Given the description of an element on the screen output the (x, y) to click on. 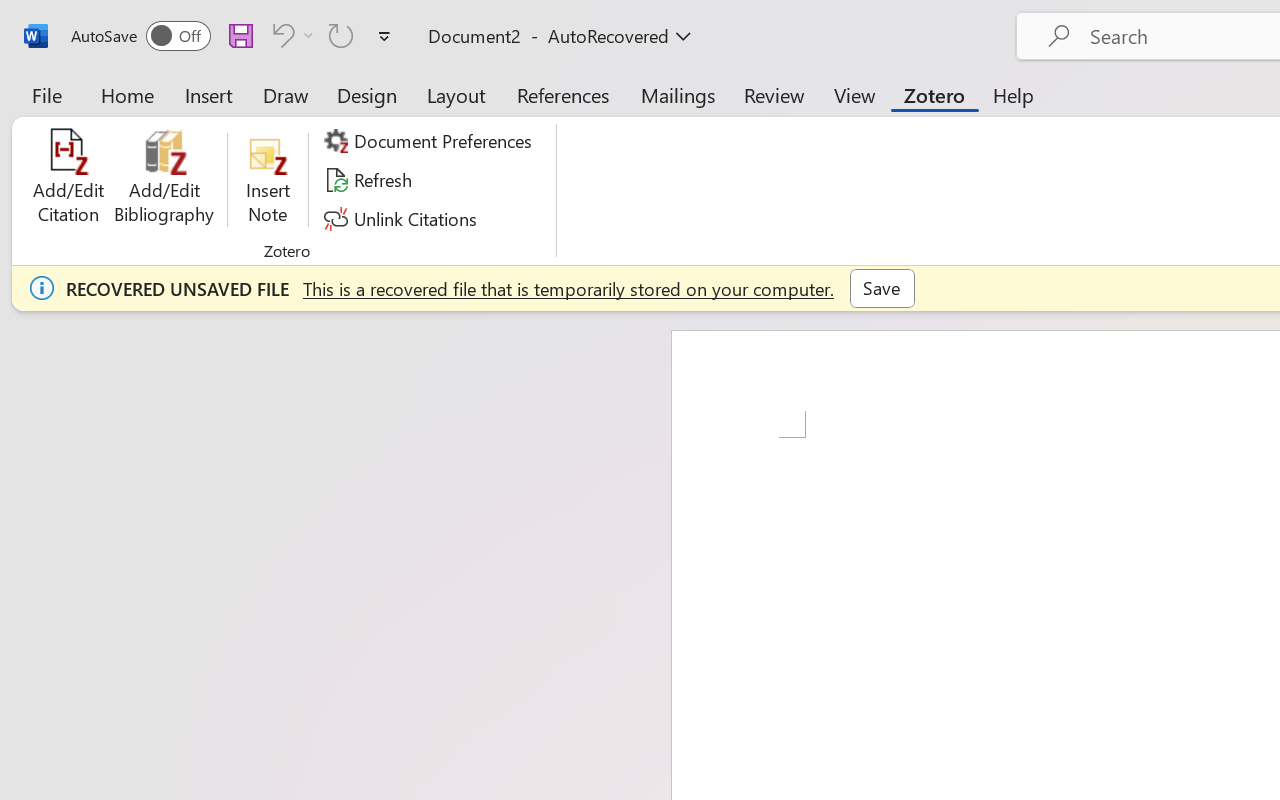
Refresh (370, 179)
Insert Note (267, 179)
Add/Edit Citation (68, 179)
Can't Undo (290, 35)
Help (1013, 94)
Unlink Citations (403, 218)
